Given the description of an element on the screen output the (x, y) to click on. 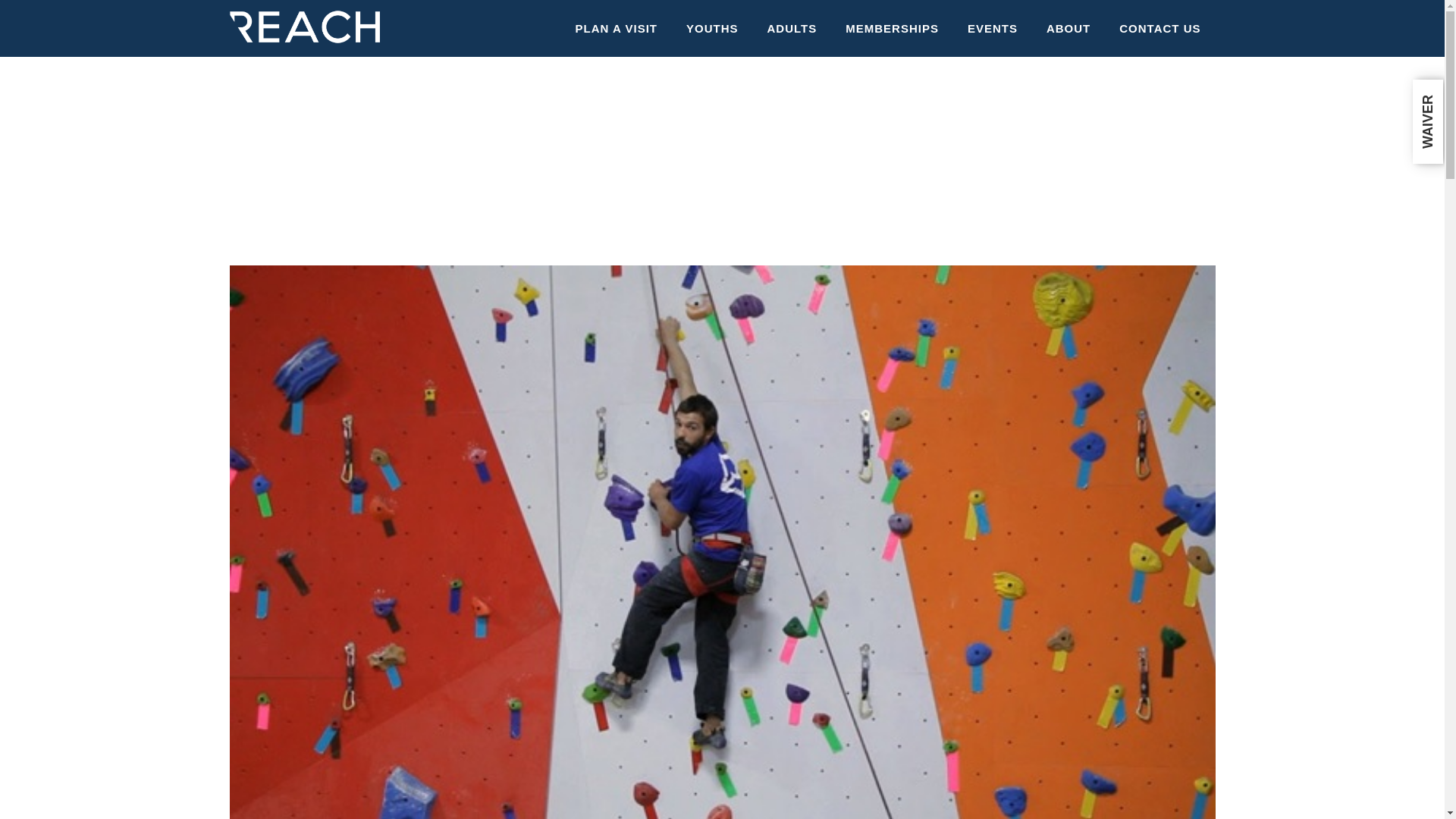
YOUTHS (711, 28)
PLAN A VISIT (615, 28)
ADULTS (791, 28)
